Given the description of an element on the screen output the (x, y) to click on. 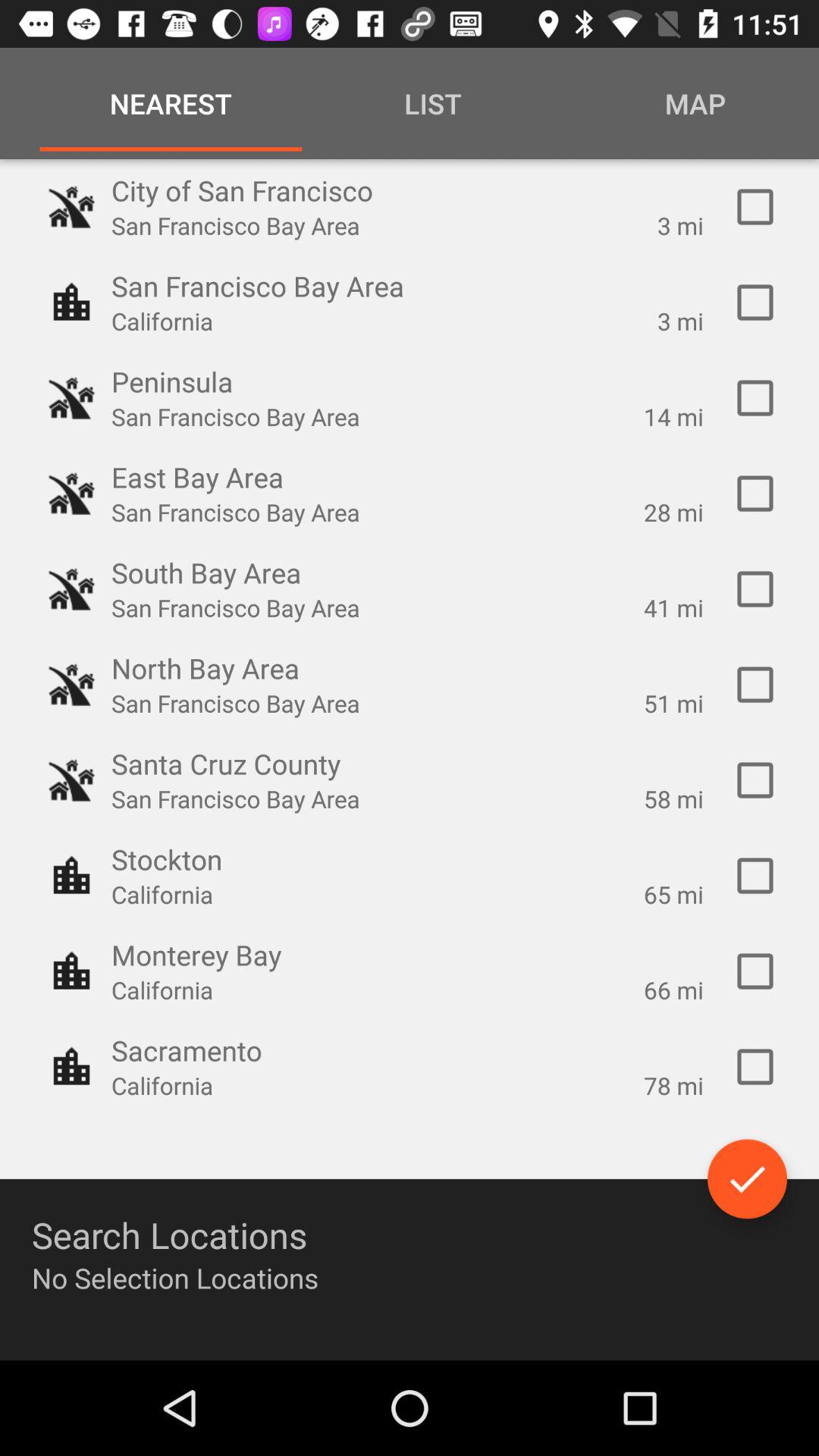
go to selcet (755, 397)
